Given the description of an element on the screen output the (x, y) to click on. 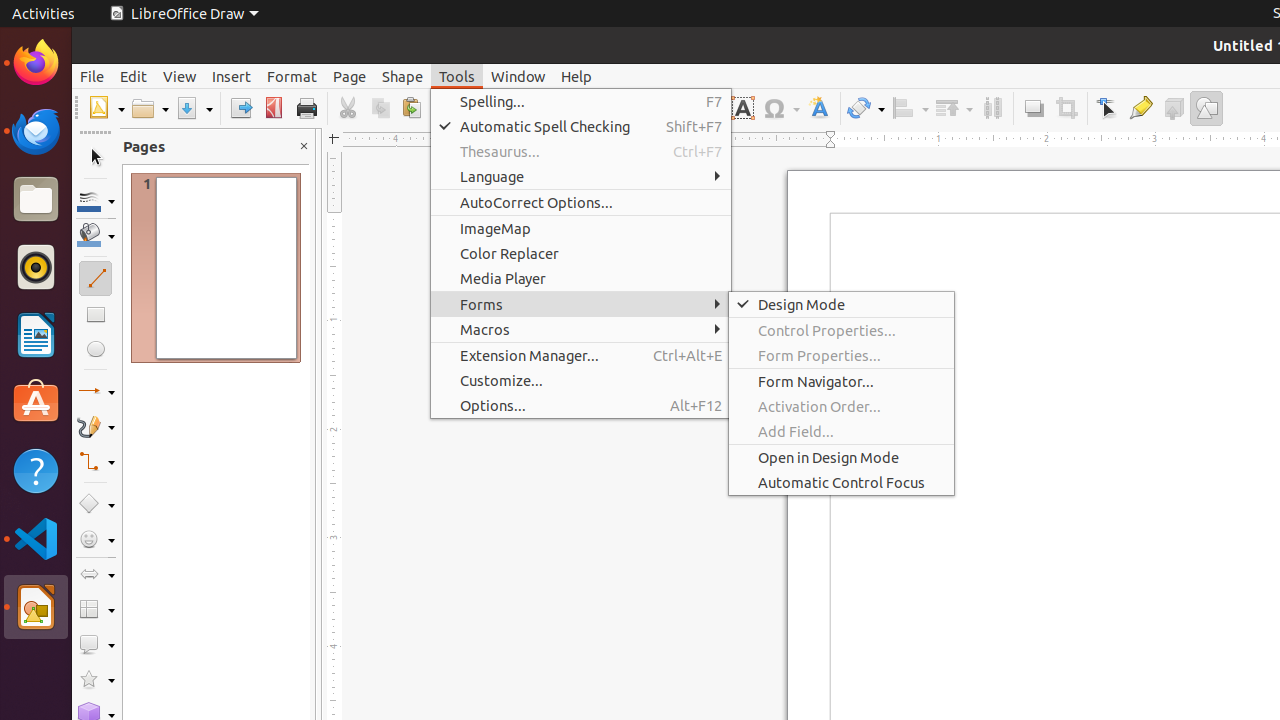
Rhythmbox Element type: push-button (36, 267)
Glue Points Element type: push-button (1140, 108)
LibreOffice Draw Element type: push-button (36, 607)
Macros Element type: menu (581, 329)
